Given the description of an element on the screen output the (x, y) to click on. 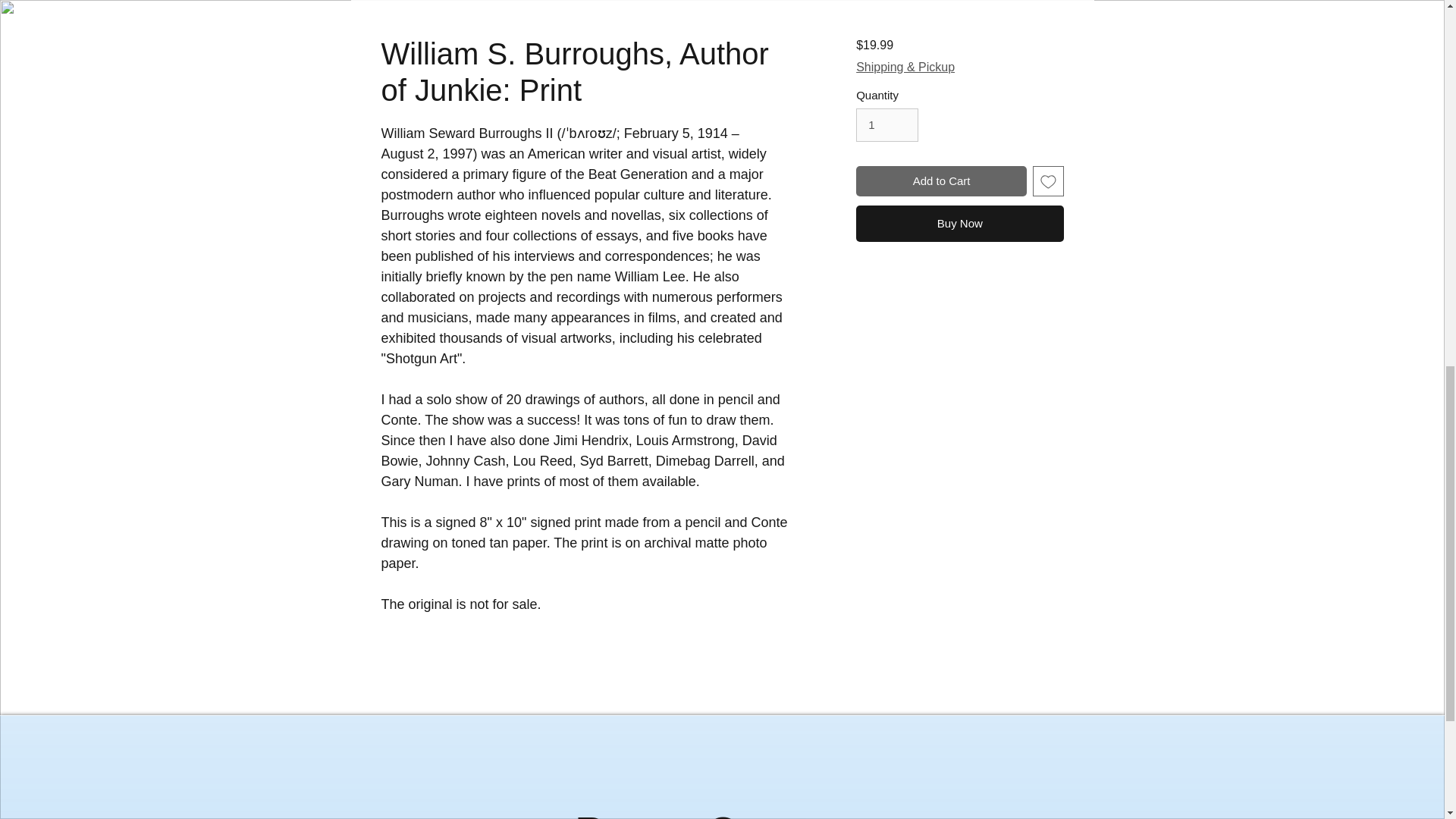
Add to Cart (941, 181)
Buy Now (959, 223)
1 (887, 124)
